Given the description of an element on the screen output the (x, y) to click on. 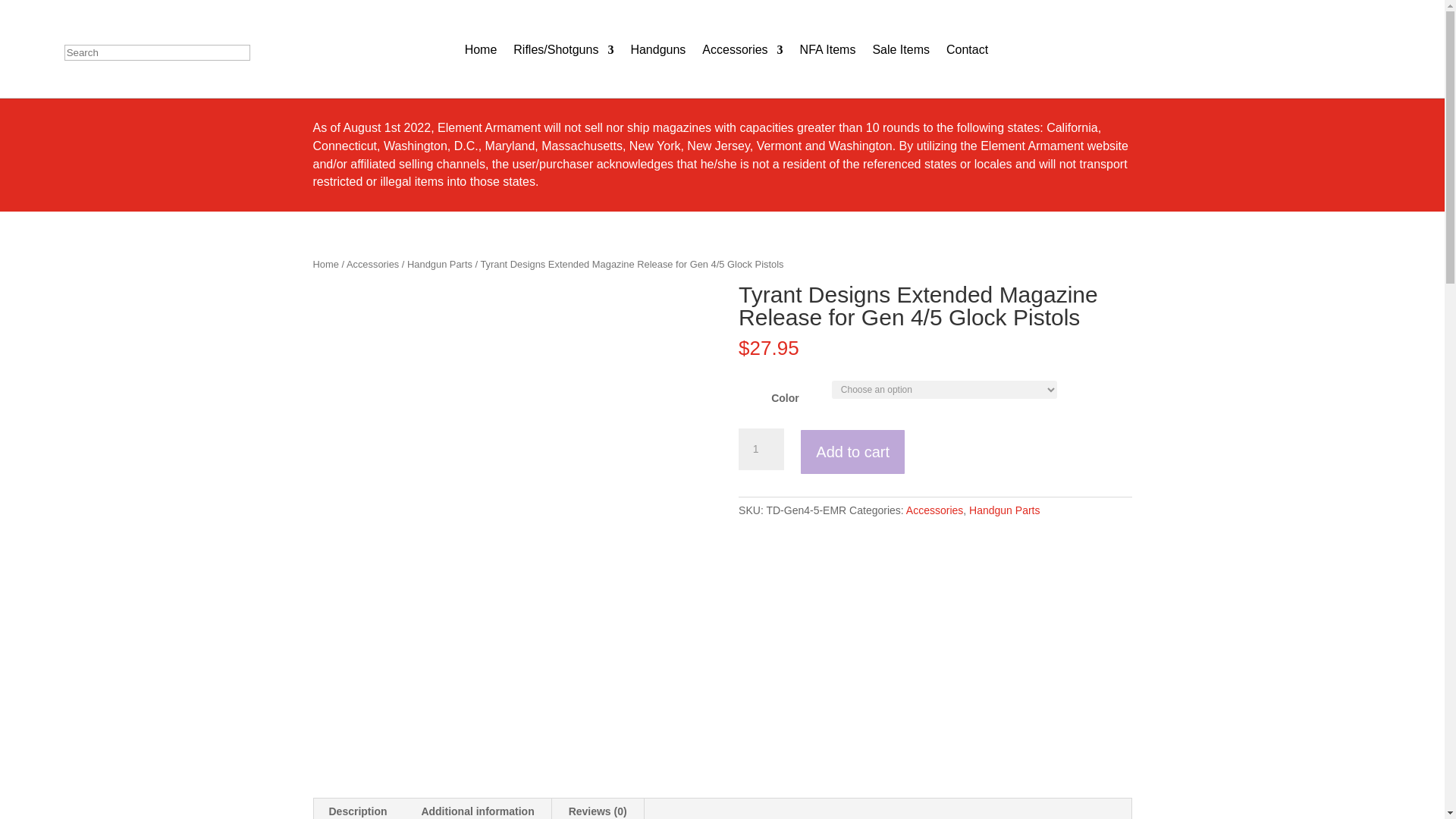
Accessories (742, 49)
1 (761, 449)
NFA Items (827, 49)
Handguns (657, 49)
Add to cart (852, 451)
Handgun Parts (439, 264)
Home (325, 264)
Accessories (372, 264)
Accessories (933, 510)
Sale Items (901, 49)
